Given the description of an element on the screen output the (x, y) to click on. 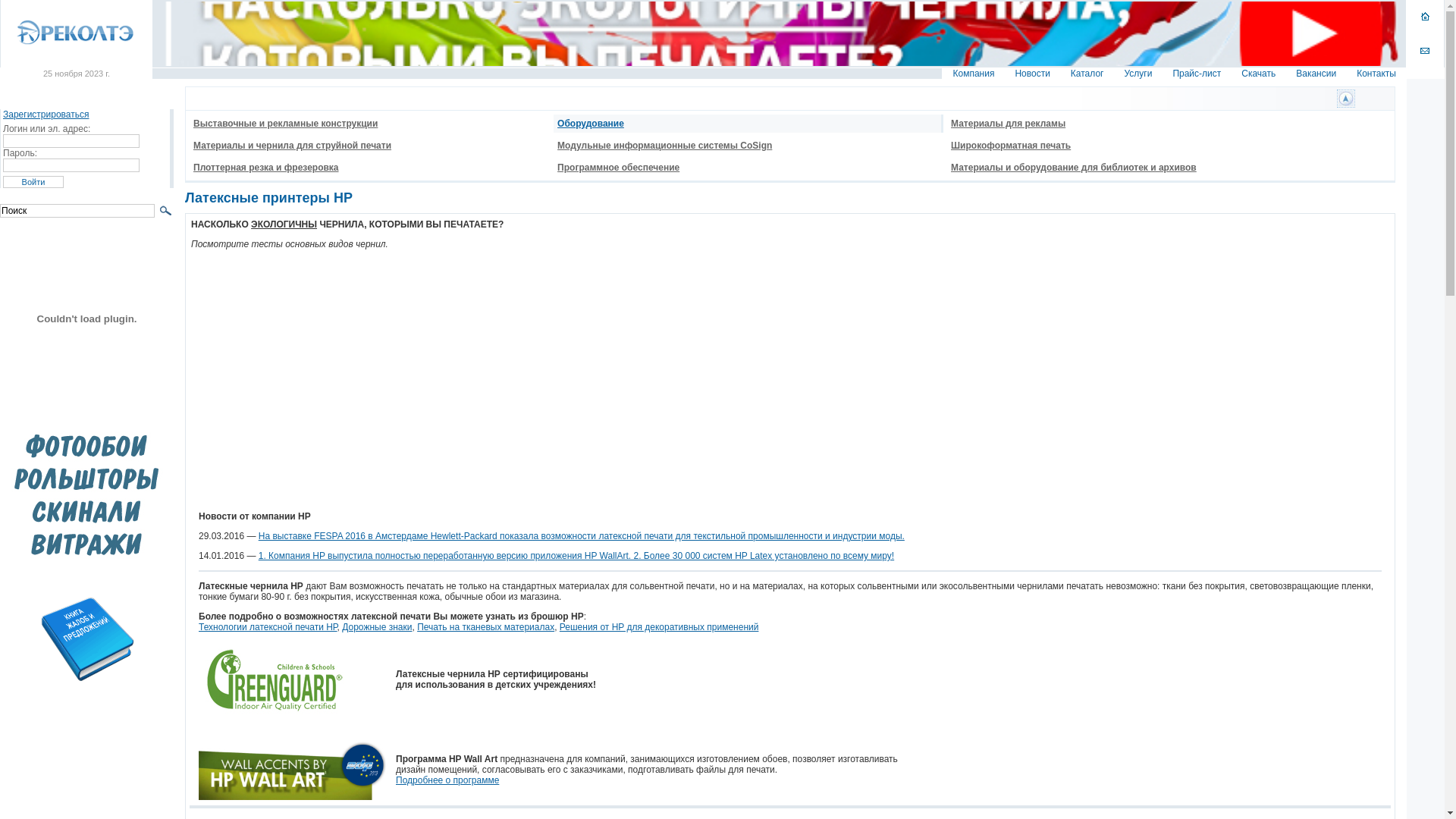
???????? Element type: hover (1345, 98)
